Given the description of an element on the screen output the (x, y) to click on. 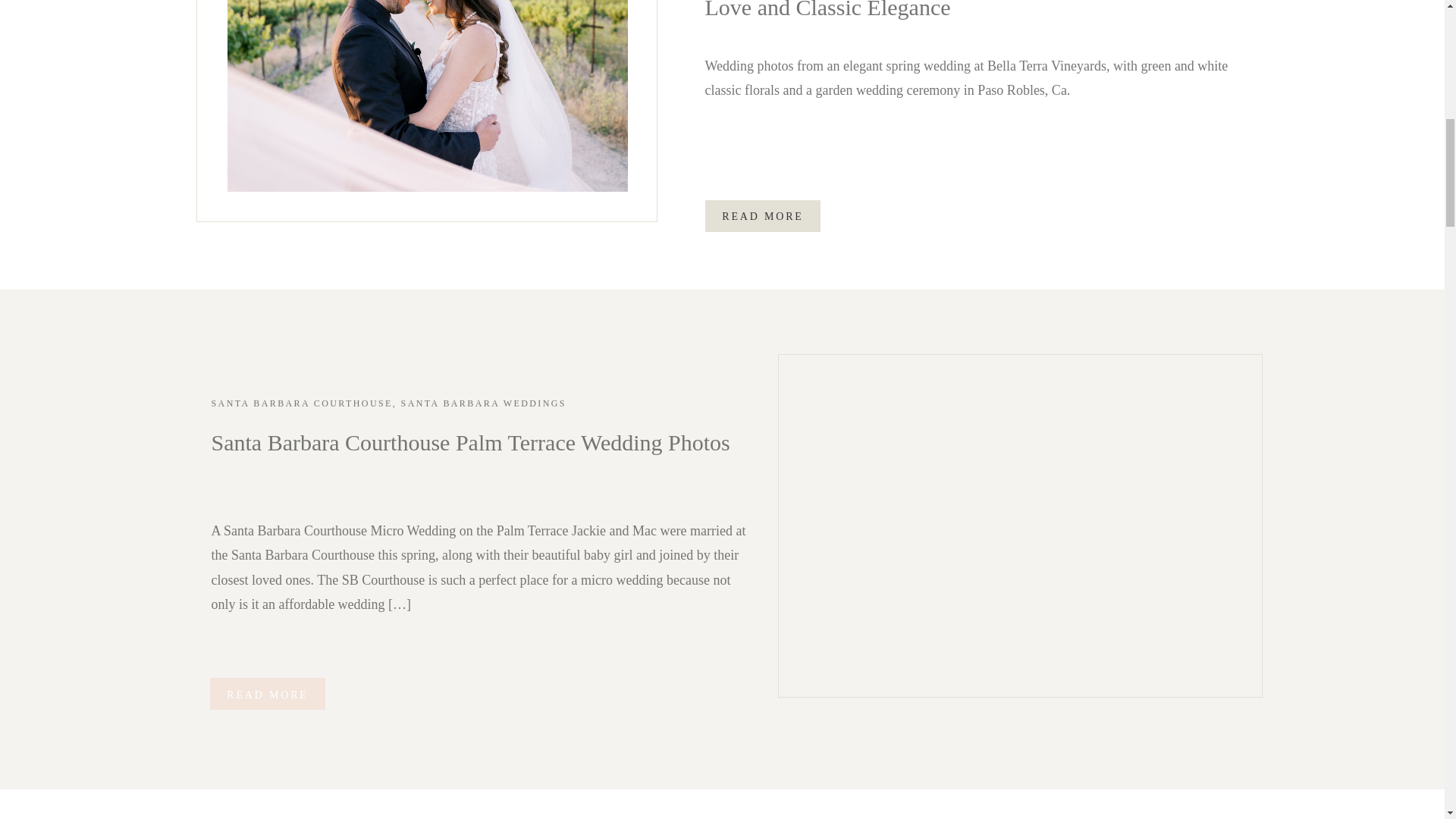
Santa Barbara Courthouse Palm Terrace Wedding Photos (1018, 526)
SANTA BARBARA WEDDINGS (483, 403)
Santa Barbara Courthouse Palm Terrace Wedding Photos (470, 442)
READ MORE (763, 215)
SANTA BARBARA COURTHOUSE (301, 403)
Santa Barbara Courthouse Palm Terrace Wedding Photos (266, 693)
READ MORE (266, 693)
